Given the description of an element on the screen output the (x, y) to click on. 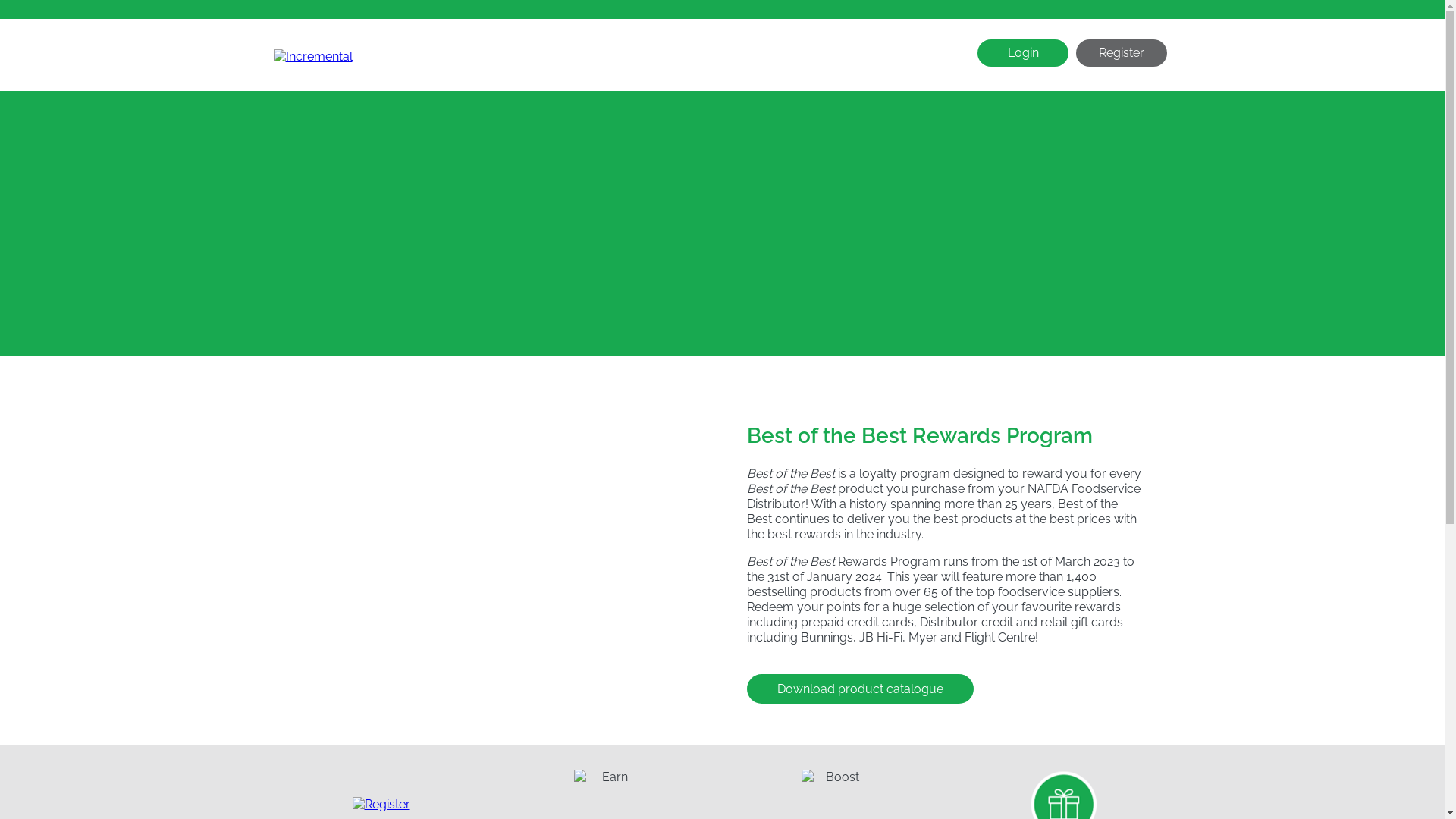
Best of the Best Foodservice Rewards 2023 Element type: hover (500, 547)
Register Element type: text (1121, 52)
Download product catalogue Element type: text (859, 688)
Login Element type: text (1022, 52)
